Given the description of an element on the screen output the (x, y) to click on. 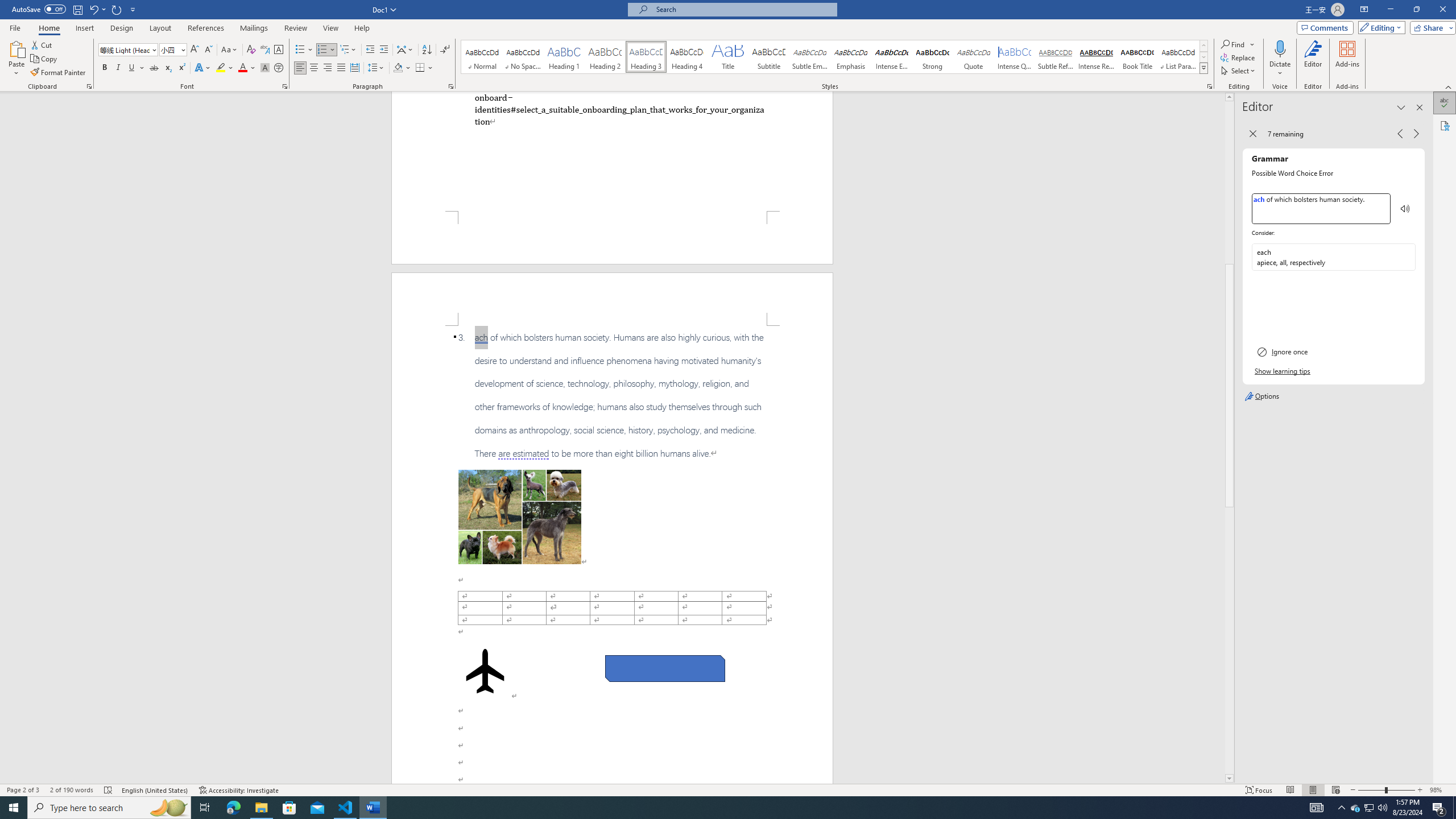
Find (1237, 44)
Character Shading (264, 67)
Airplane with solid fill (485, 670)
Title (727, 56)
Text Effects and Typography (202, 67)
Show/Hide Editing Marks (444, 49)
Focus  (1258, 790)
3. (611, 395)
Grow Font (193, 49)
Decrease Indent (370, 49)
Book Title (1136, 56)
